Given the description of an element on the screen output the (x, y) to click on. 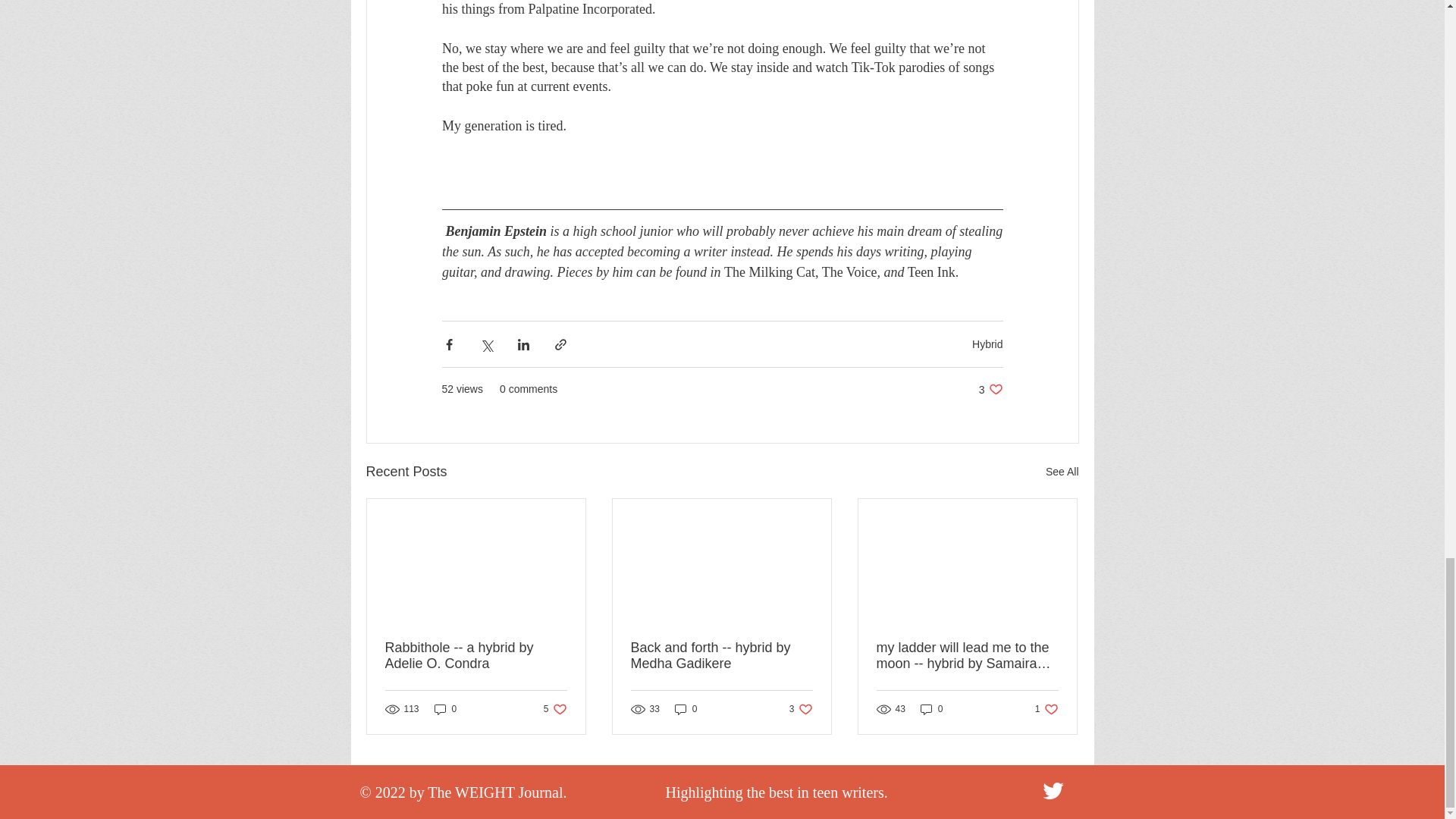
0 (931, 708)
0 (445, 708)
Rabbithole -- a hybrid by Adelie O. Condra (555, 708)
See All (476, 655)
0 (1061, 472)
Back and forth -- hybrid by Medha Gadikere (685, 708)
Hybrid (721, 655)
